Given the description of an element on the screen output the (x, y) to click on. 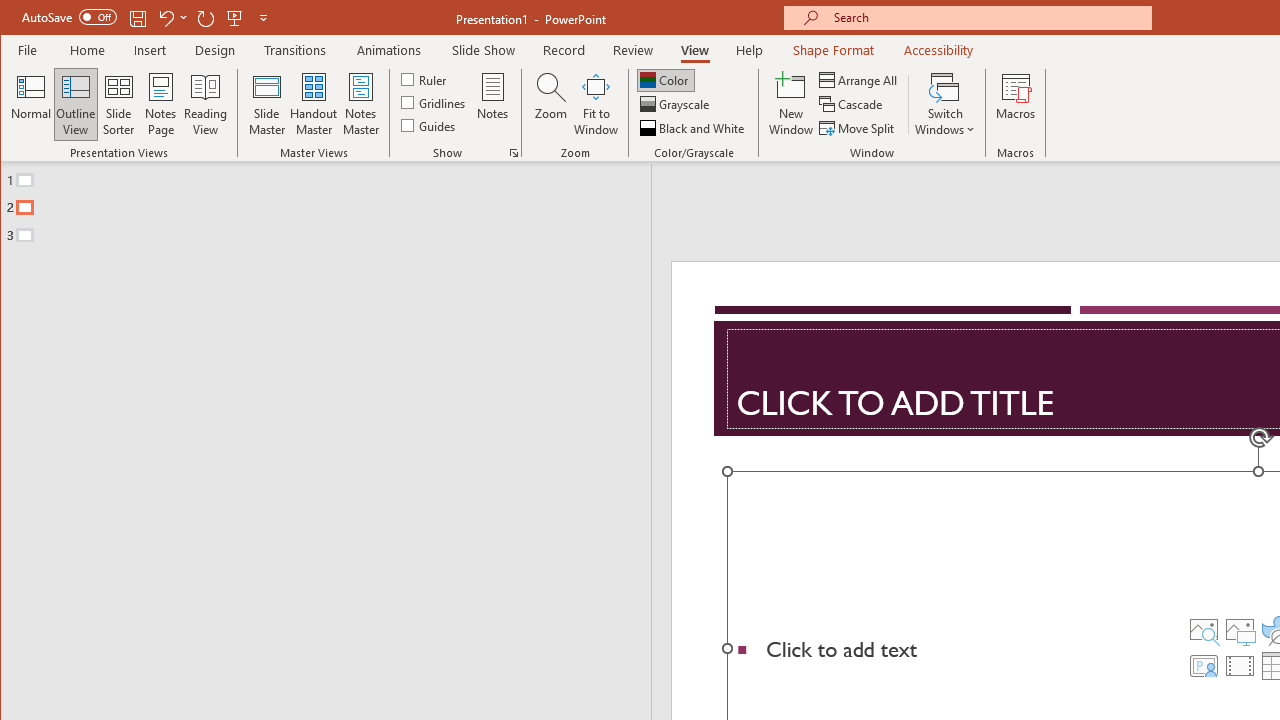
Grid Settings... (513, 152)
Notes Master (360, 104)
Slide Master (266, 104)
Cascade (852, 103)
Switch Windows (944, 104)
